Given the description of an element on the screen output the (x, y) to click on. 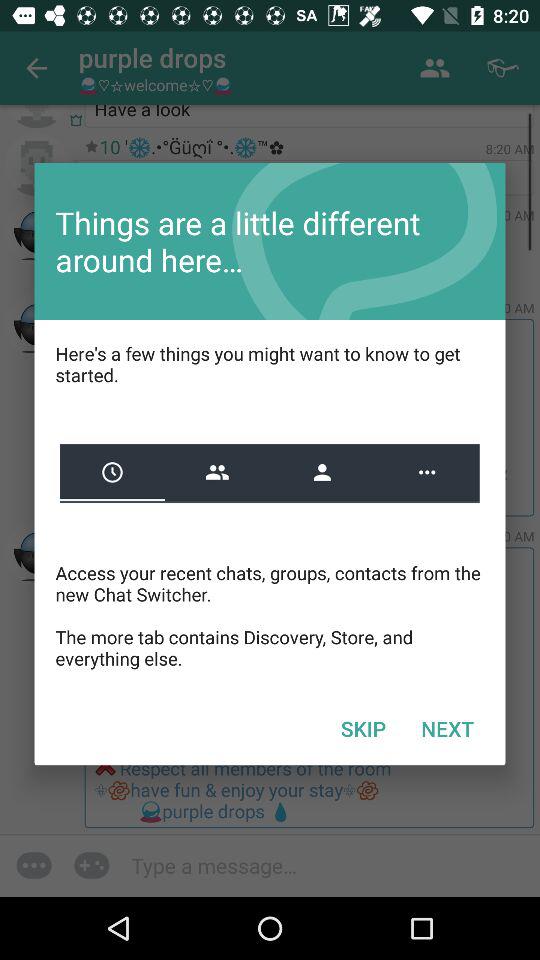
jump until the next (447, 728)
